Given the description of an element on the screen output the (x, y) to click on. 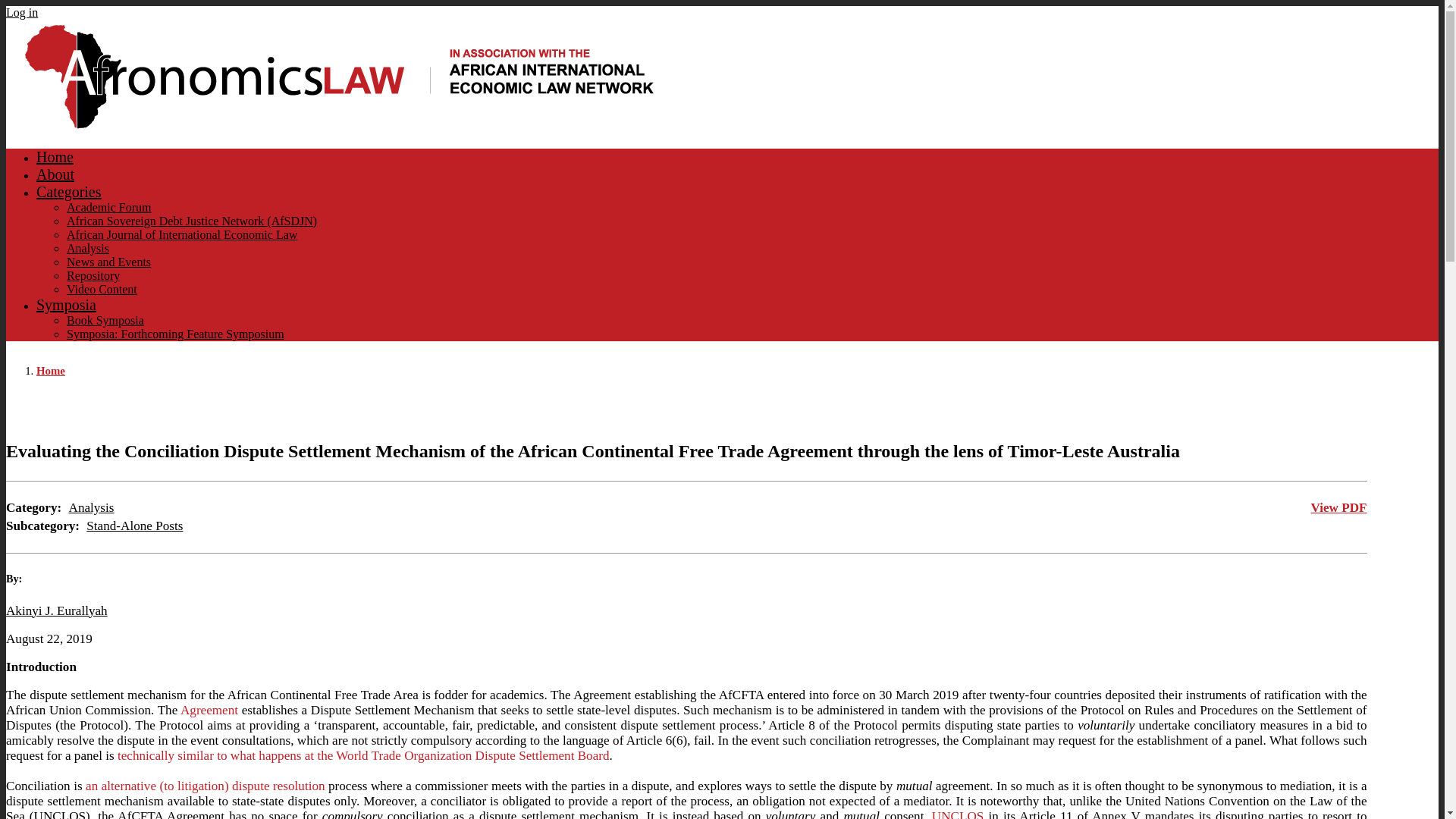
Share to X (1292, 409)
Symposia: Forthcoming Feature Symposium (174, 333)
Home (50, 370)
Academic Forum (108, 206)
About (55, 174)
About (55, 174)
Categories (68, 191)
Akinyi J. Eurallyah (56, 610)
Symposia (66, 304)
African Journal of International Economic Law (181, 234)
Analysis (91, 507)
Analysis (87, 247)
Repository (92, 275)
Repository (92, 275)
Categories (68, 191)
